Given the description of an element on the screen output the (x, y) to click on. 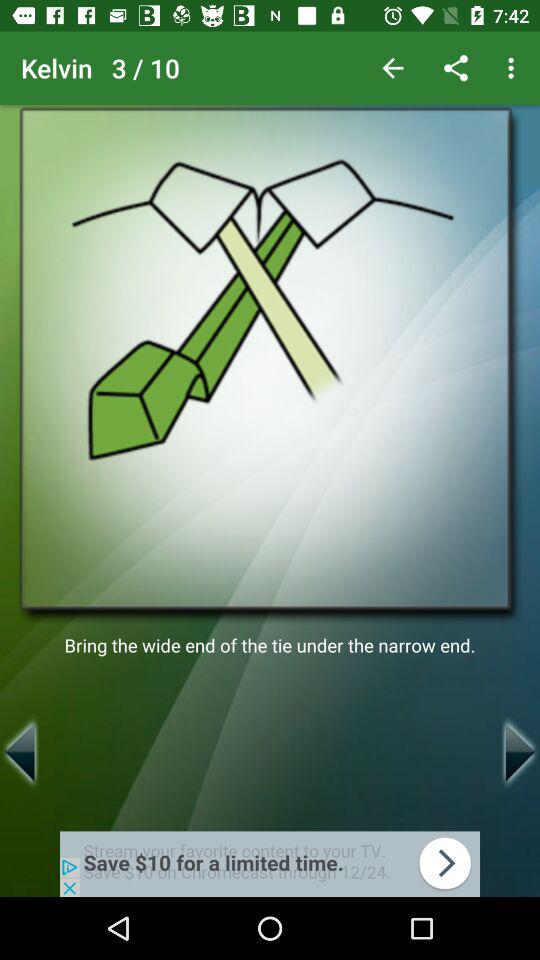
go to advertisement (270, 864)
